Given the description of an element on the screen output the (x, y) to click on. 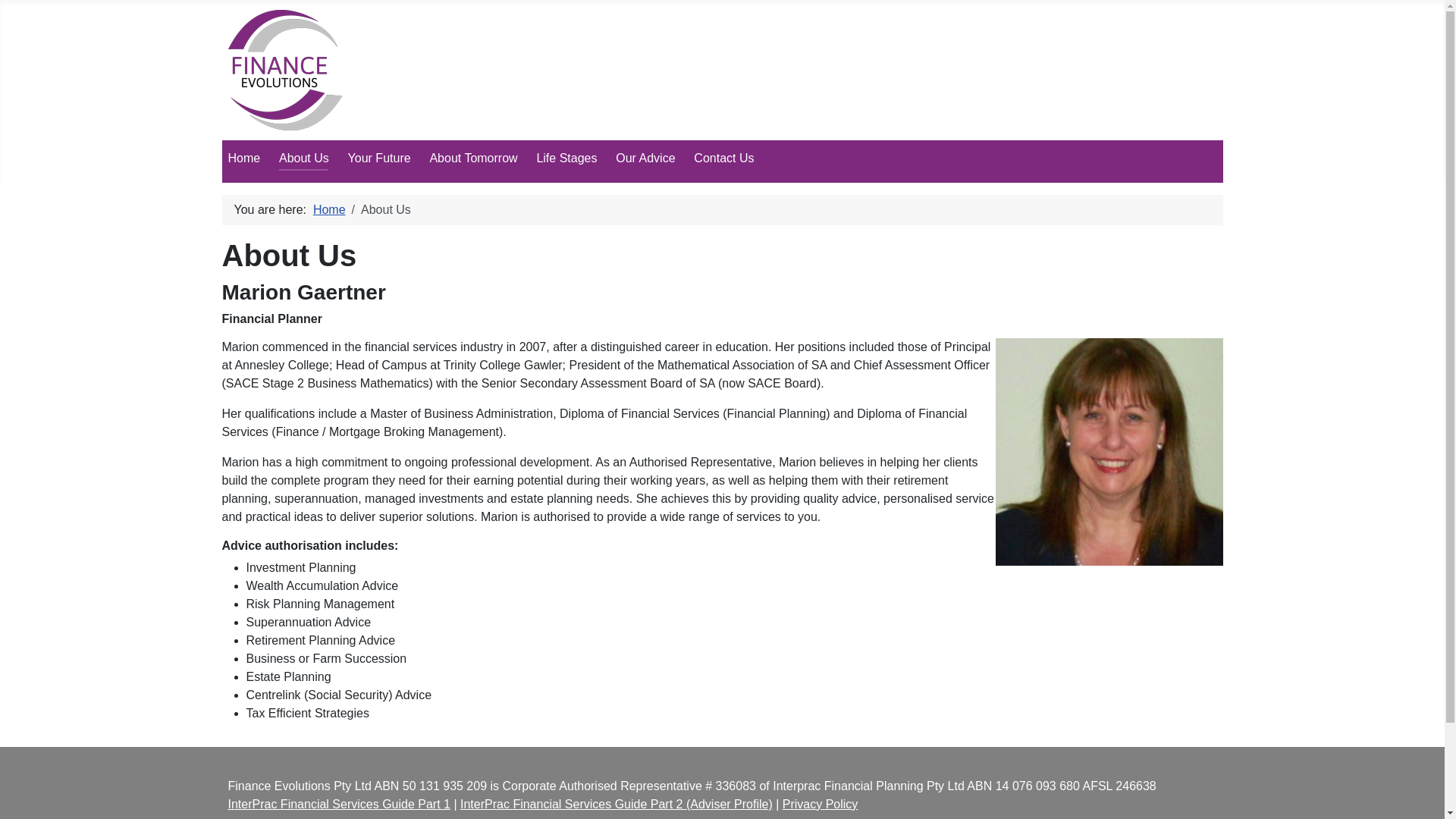
Home Element type: text (329, 209)
About Us Element type: text (304, 157)
Privacy Policy Element type: text (820, 803)
Life Stages Element type: text (566, 157)
InterPrac Financial Services Guide Part 2 (Adviser Profile) Element type: text (616, 803)
InterPrac Financial Services Guide Part 1 Element type: text (338, 803)
Your Future Element type: text (379, 157)
Contact Us Element type: text (723, 157)
Our Advice Element type: text (644, 157)
About Tomorrow Element type: text (473, 157)
Home Element type: text (243, 157)
